Given the description of an element on the screen output the (x, y) to click on. 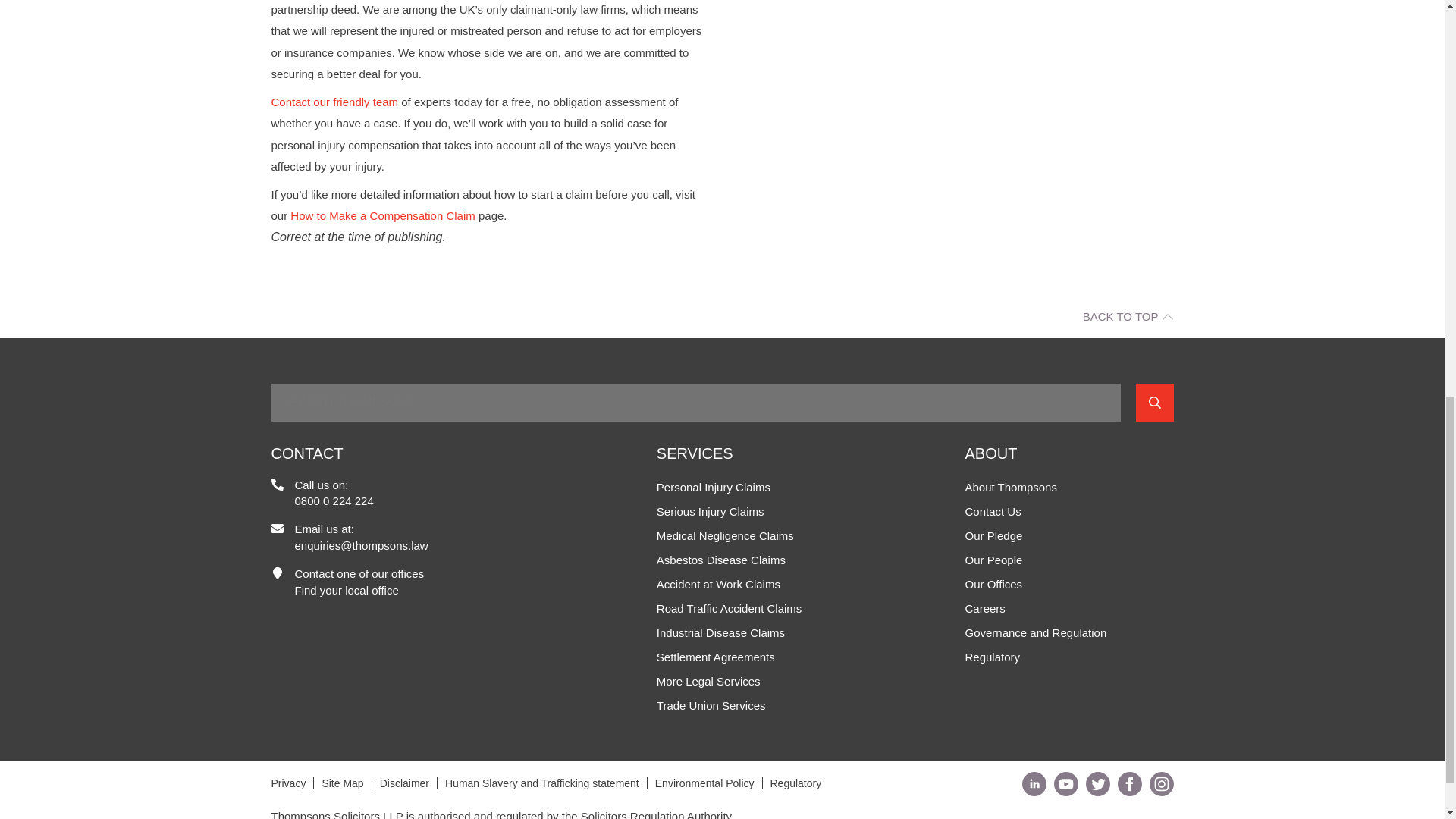
Contact Us (334, 101)
How To Make A Claim (381, 215)
